Given the description of an element on the screen output the (x, y) to click on. 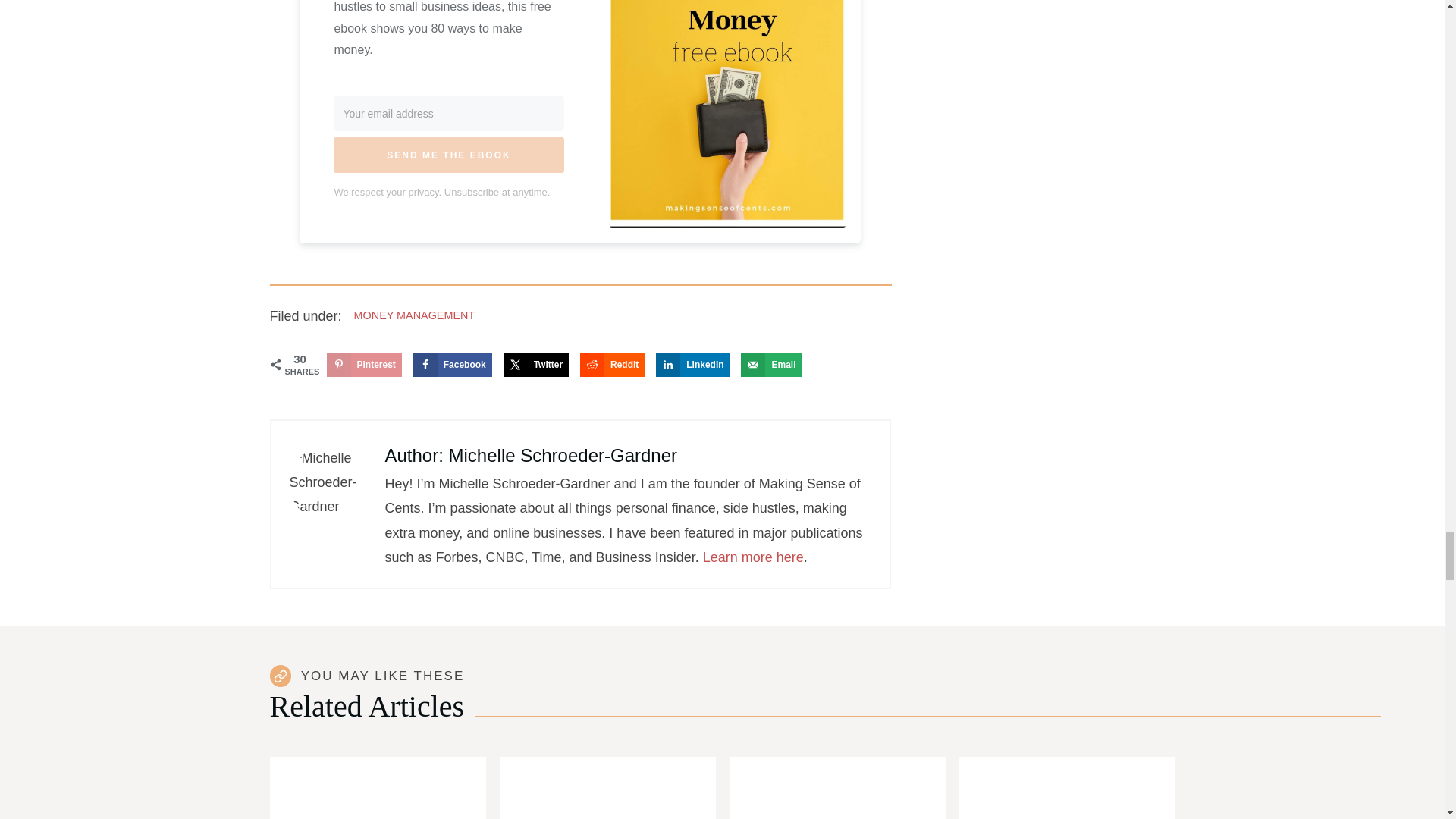
Send over email (771, 364)
Facebook (452, 364)
Twitter (536, 364)
Share on Reddit (612, 364)
21 Apps Like Ibotta To Earn Cash Back Shopping (377, 787)
SEND ME THE EBOOK (448, 154)
Save to Pinterest (363, 364)
Pinterest (363, 364)
Share on LinkedIn (692, 364)
Share on X (536, 364)
Share on Facebook (452, 364)
MONEY MANAGEMENT (414, 315)
